Given the description of an element on the screen output the (x, y) to click on. 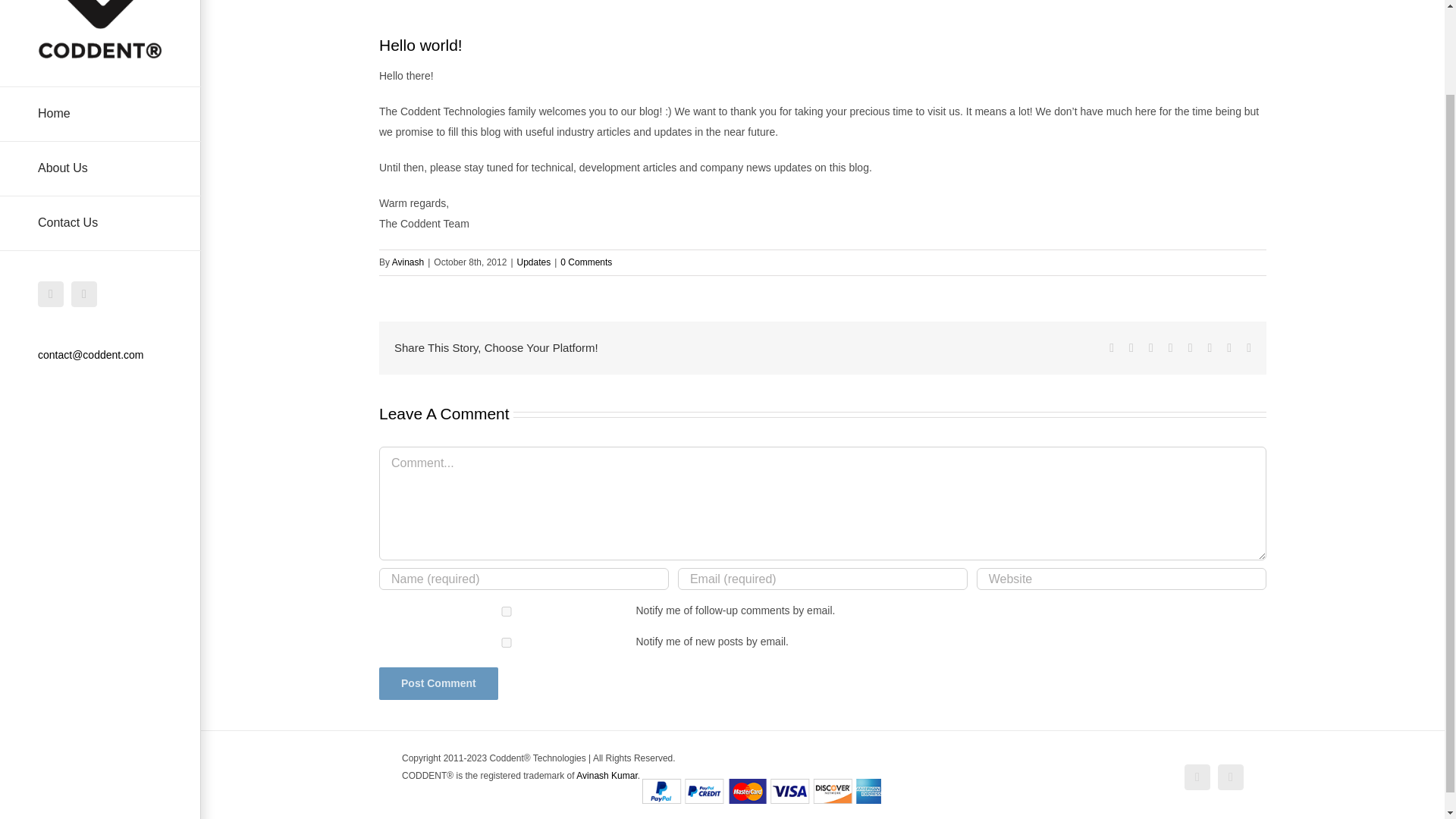
subscribe (505, 611)
Facebook (50, 294)
Home (100, 113)
subscribe (505, 642)
Post Comment (437, 683)
Contact Us (100, 223)
Posts by Avinash (407, 262)
About Us (100, 168)
Avinash Kumar (606, 775)
Updates (533, 262)
Avinash Kumar's LinkedIn Profile (606, 775)
X (84, 294)
0 Comments (585, 262)
Avinash (407, 262)
Facebook (1197, 777)
